Given the description of an element on the screen output the (x, y) to click on. 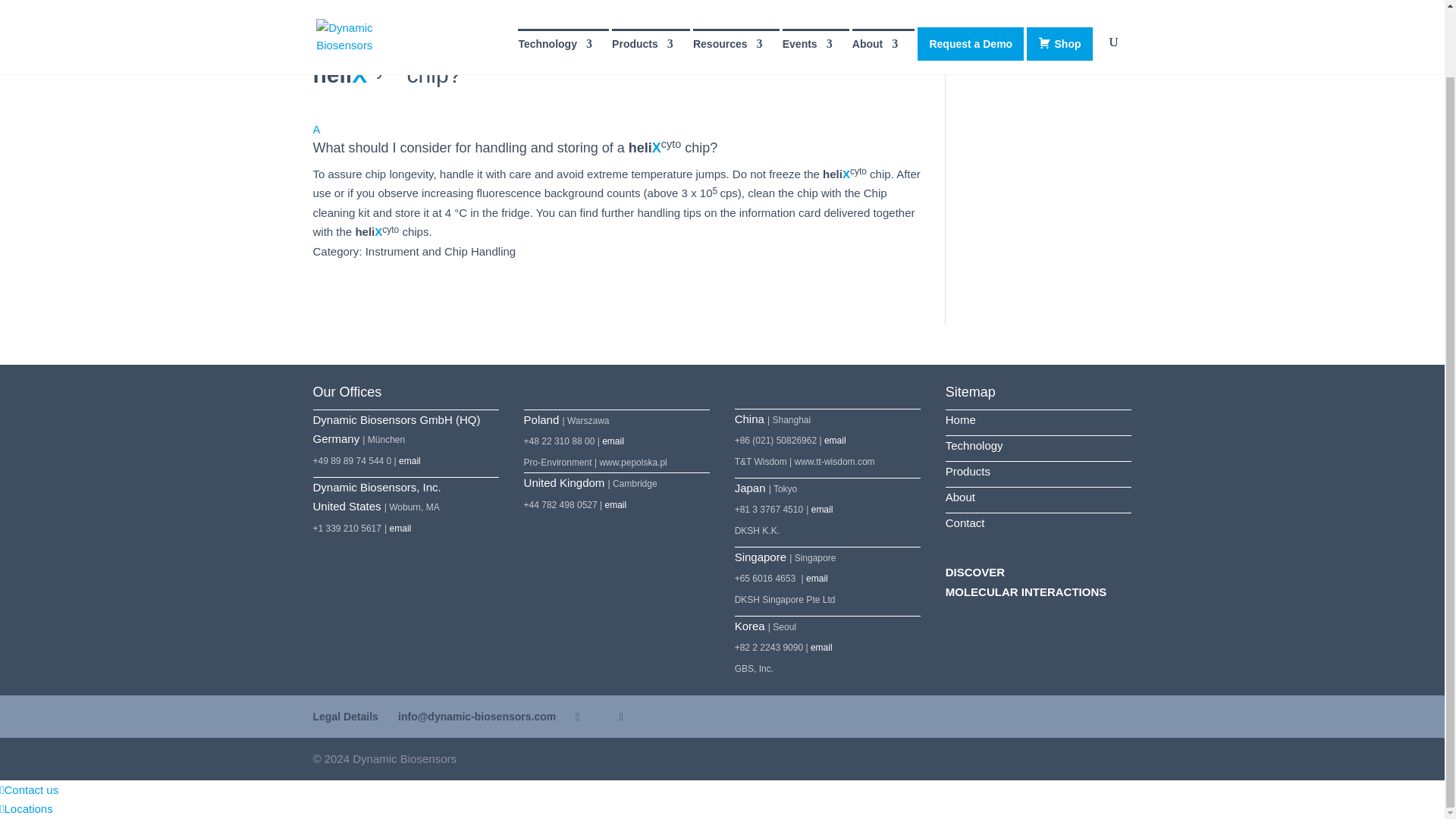
Search (1106, 45)
